Given the description of an element on the screen output the (x, y) to click on. 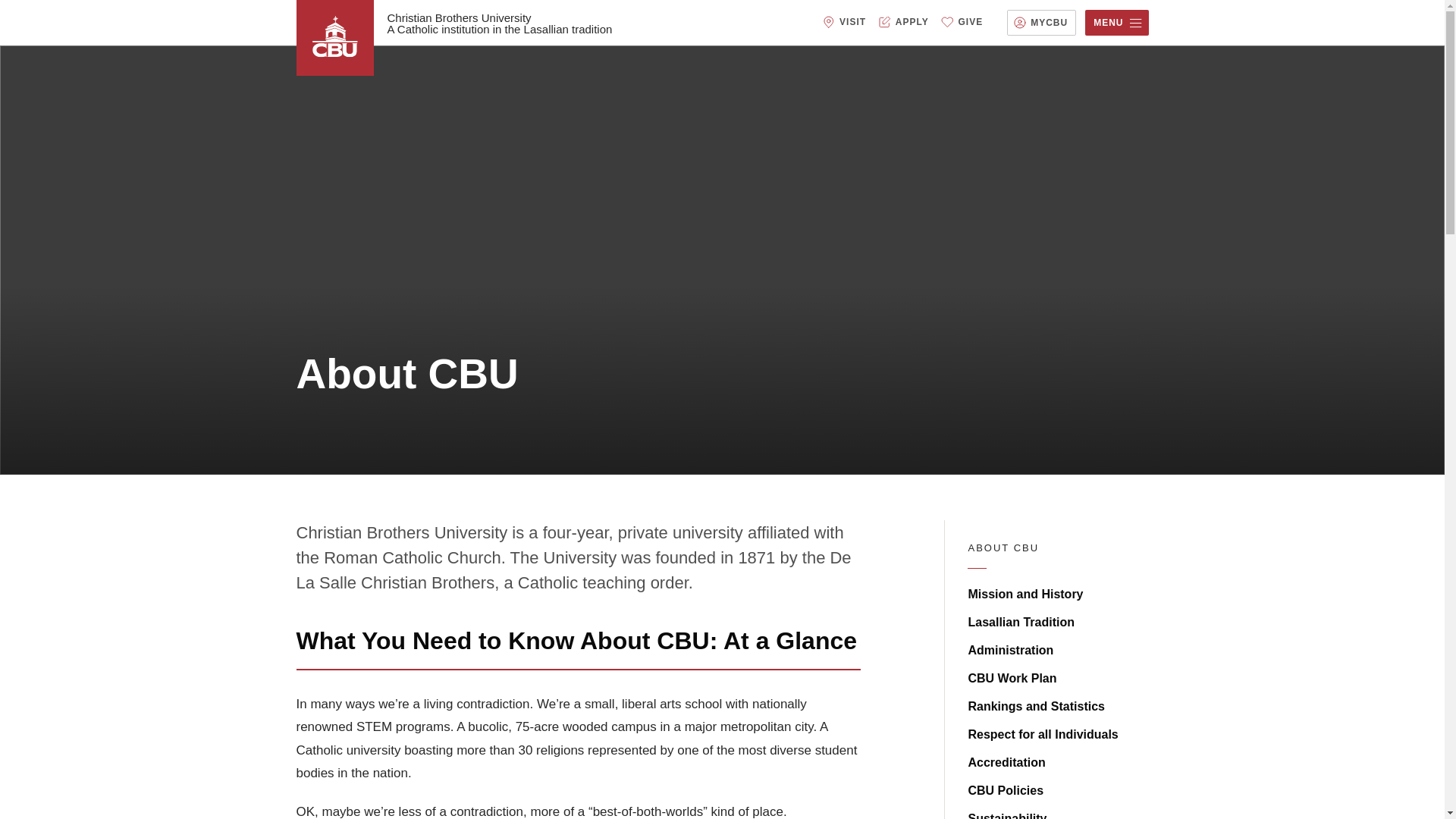
APPLY (911, 22)
Search (21, 7)
VISIT (853, 22)
MENU (1116, 22)
GIVE (970, 22)
MYCBU (1048, 23)
Login Required (1048, 23)
